Given the description of an element on the screen output the (x, y) to click on. 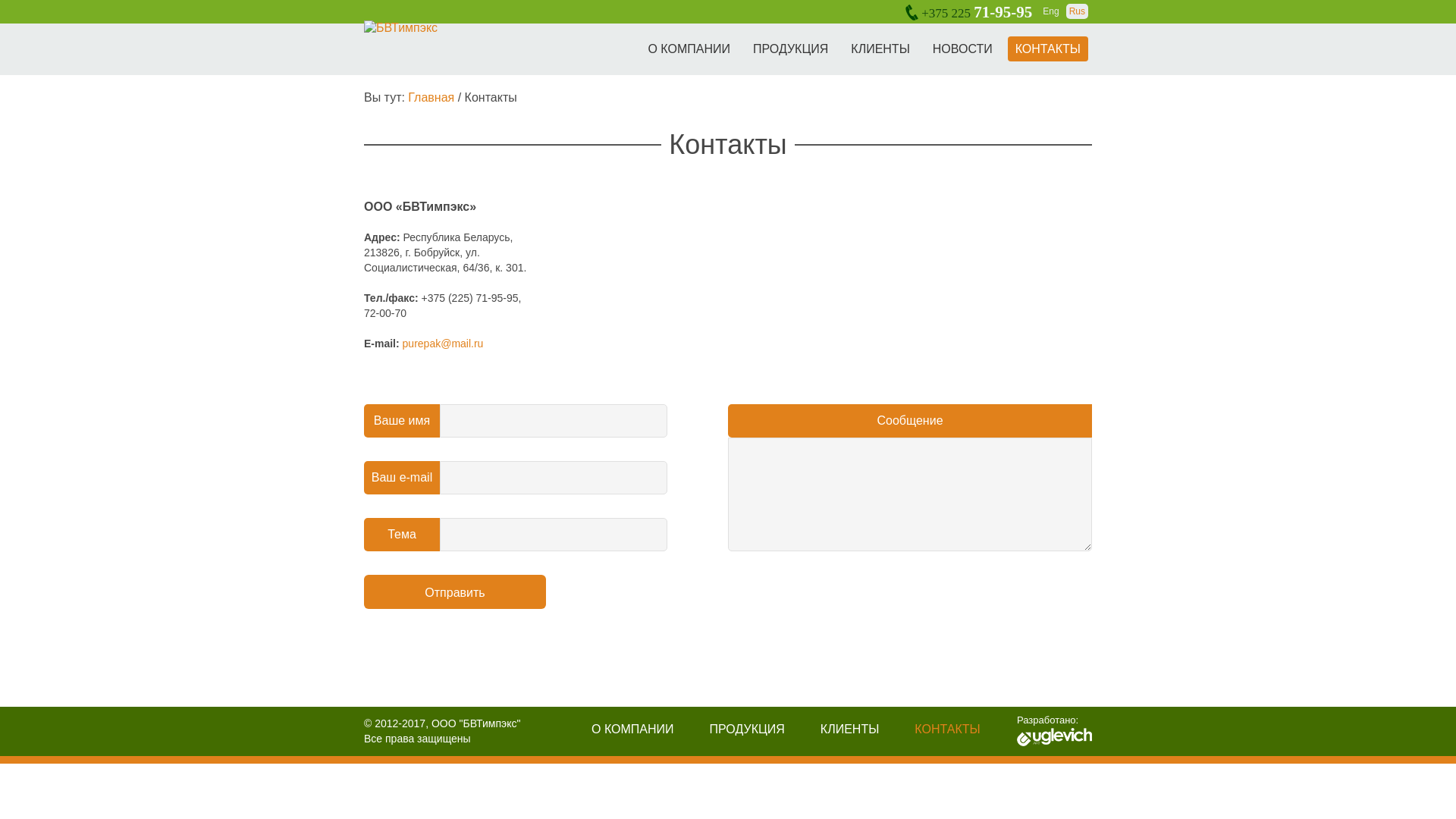
purepak@mail.ru Element type: text (442, 343)
Eng Element type: text (1050, 11)
Rus Element type: text (1077, 11)
